Given the description of an element on the screen output the (x, y) to click on. 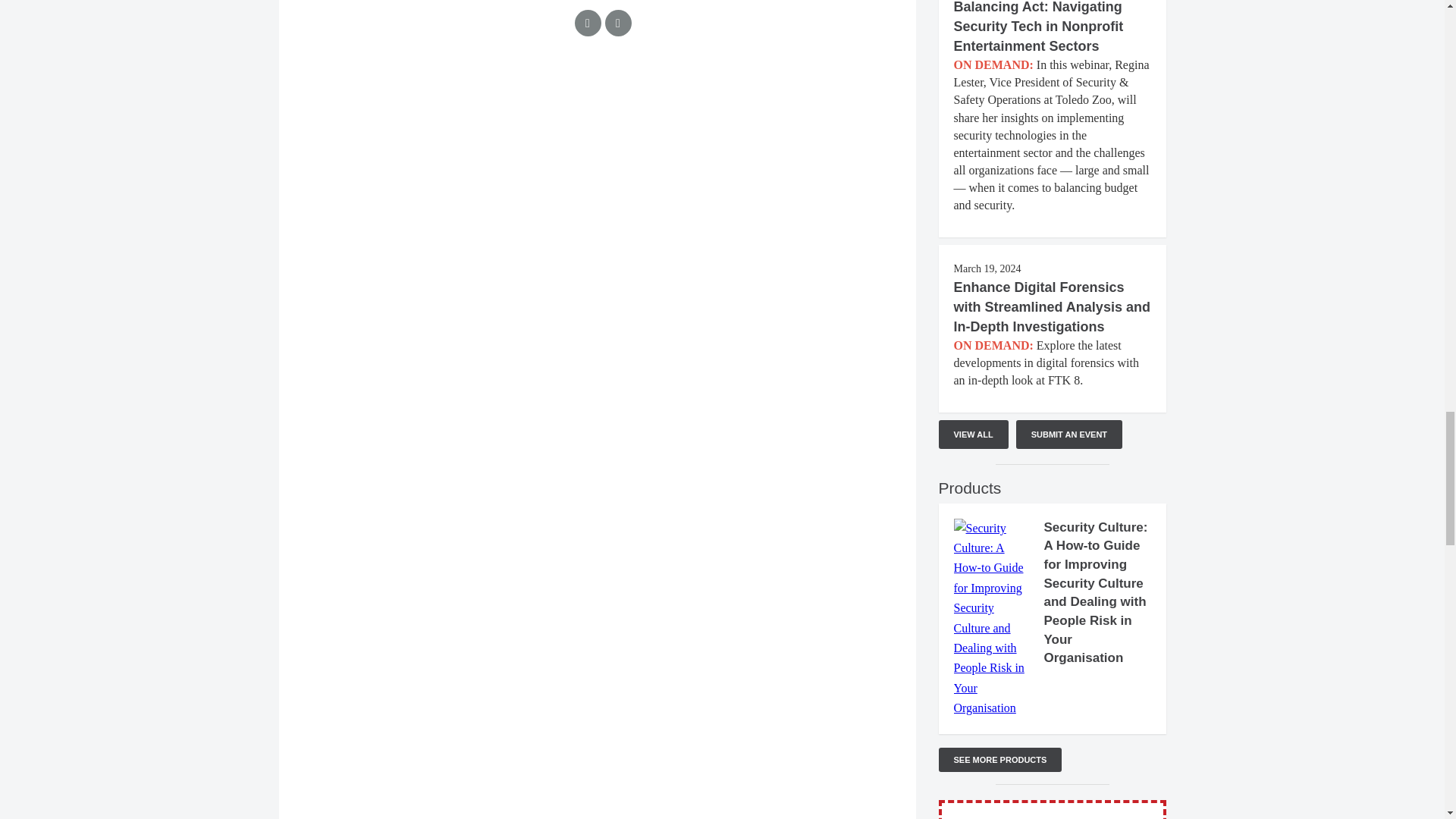
Interaction questions (597, 142)
